Given the description of an element on the screen output the (x, y) to click on. 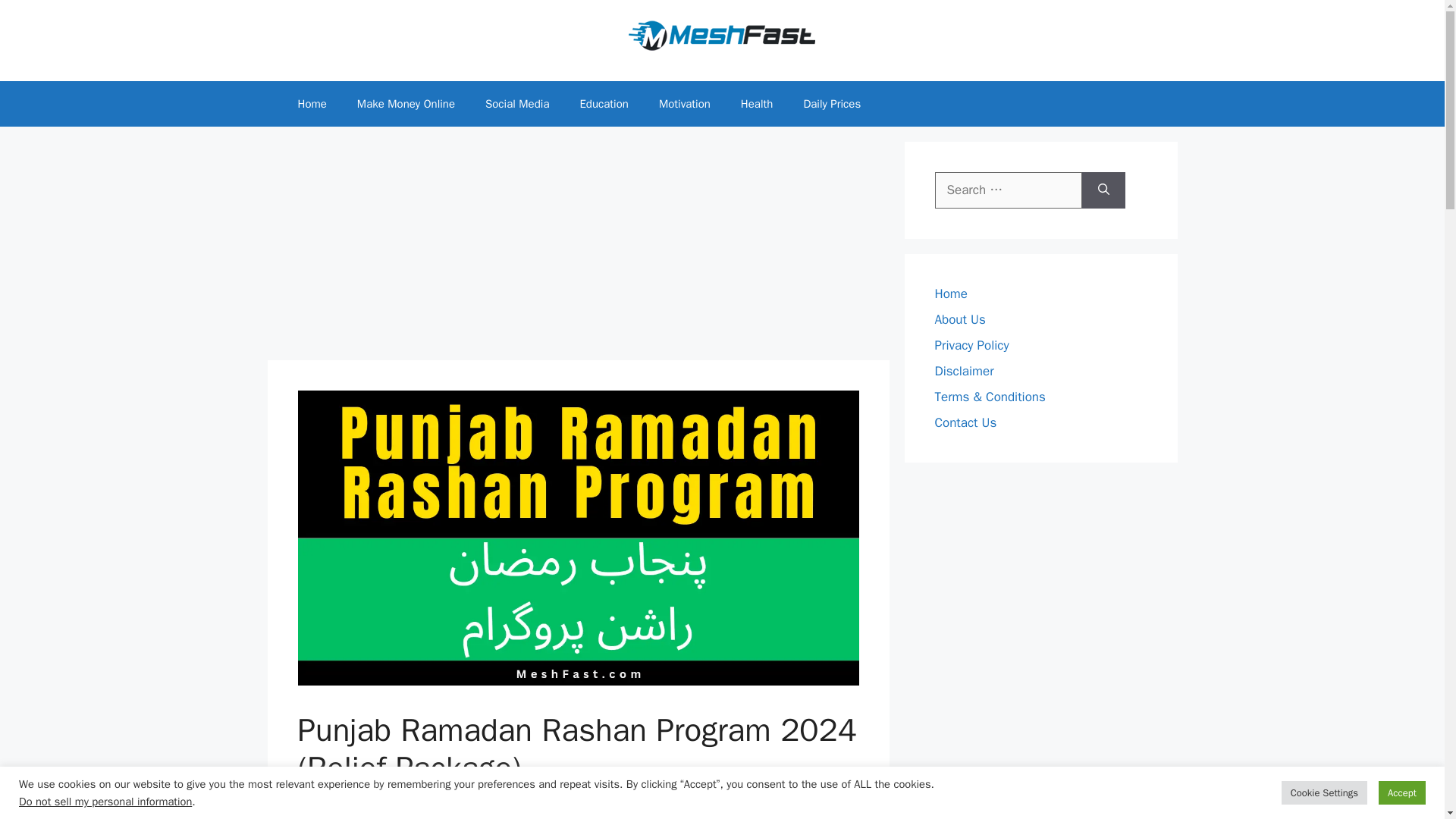
MeshFast (427, 799)
Motivation (684, 103)
Disclaimer (963, 370)
Contact Us (964, 421)
Privacy Policy (971, 344)
Social Media (517, 103)
Make Money Online (406, 103)
Daily Prices (831, 103)
Cookie Settings (1324, 792)
Home (950, 293)
